Given the description of an element on the screen output the (x, y) to click on. 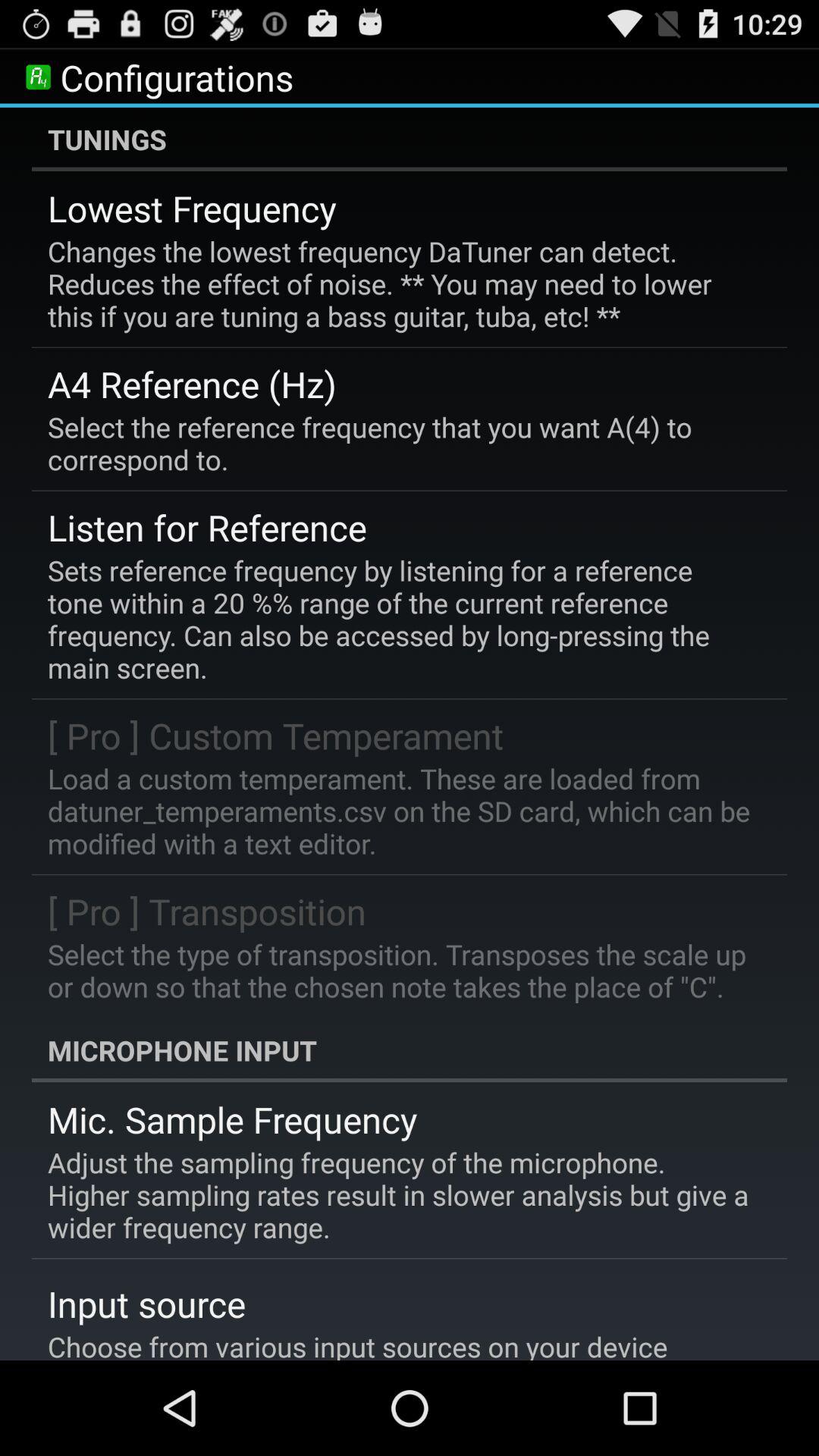
scroll until the tunings app (409, 139)
